Given the description of an element on the screen output the (x, y) to click on. 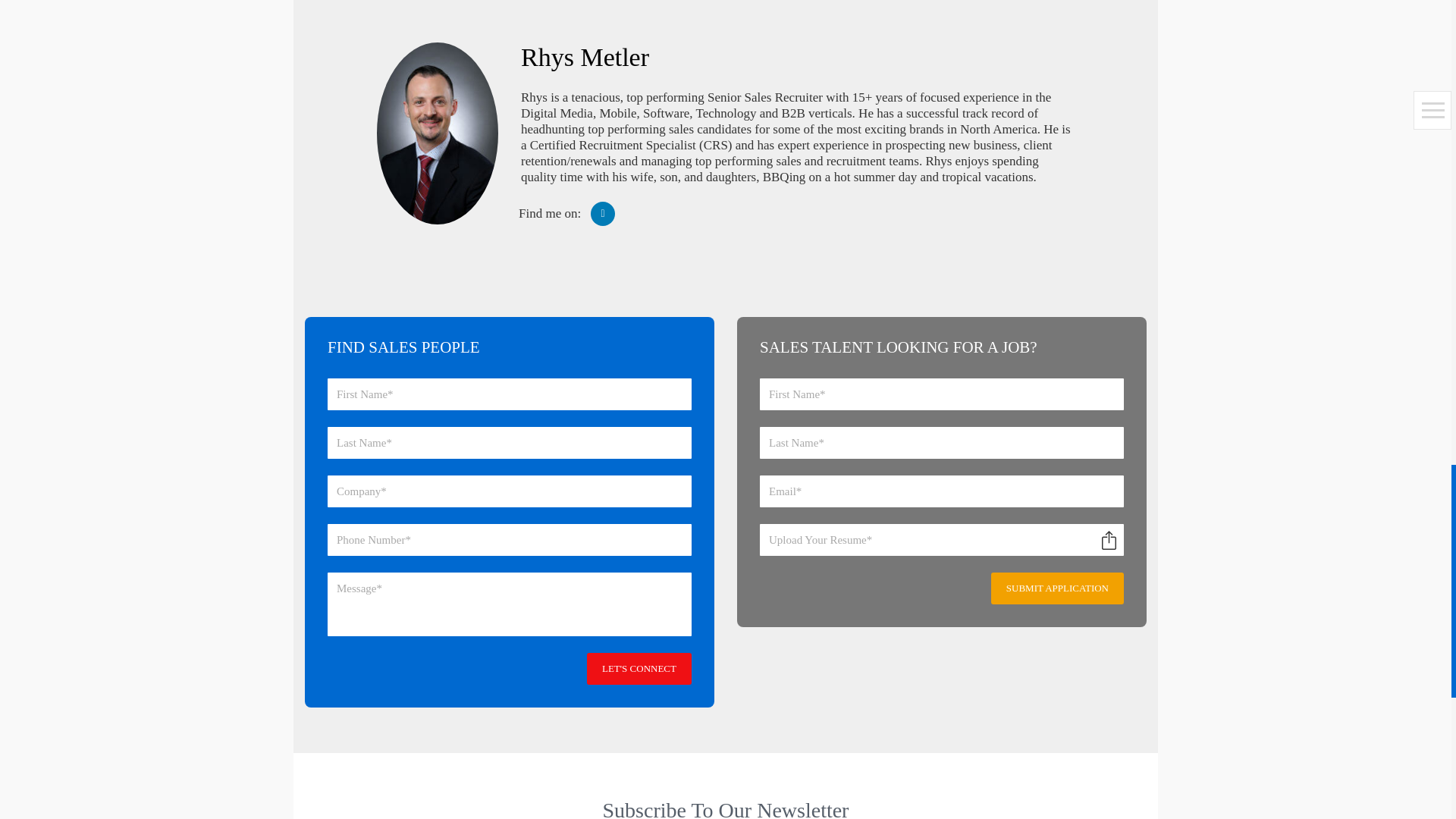
Let's Connect (638, 668)
Submit Application (1057, 588)
Submit Application (1057, 588)
Let's Connect (638, 668)
